Given the description of an element on the screen output the (x, y) to click on. 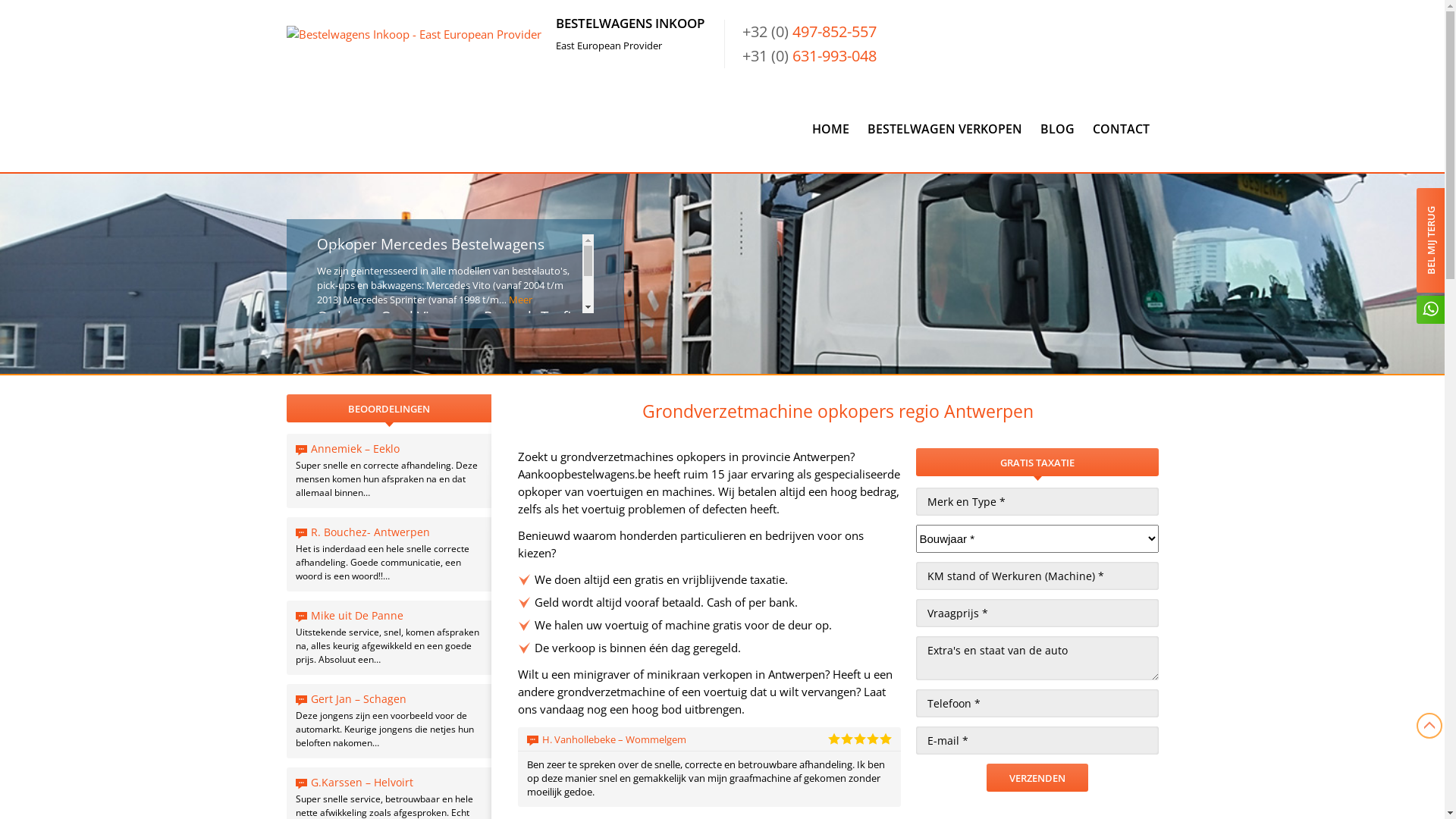
Opkoper Mercedes Bestelwagens Element type: text (430, 244)
BESTELWAGENS INKOOP
East European Provider Element type: text (495, 43)
BLOG Element type: text (1057, 128)
Opkoper Opel Vivaro en Renault Trafic Element type: text (446, 316)
CONTACT Element type: text (1119, 128)
Meer Element type: text (472, 372)
BESTELWAGEN VERKOPEN Element type: text (944, 128)
Bestelwagens Inkoop - East European Provider Element type: hover (413, 34)
+32 (0) 497-852-557 Element type: text (808, 31)
HOME Element type: text (829, 128)
Meer Element type: text (519, 299)
WhatsApp Element type: hover (1430, 311)
+31 (0) 631-993-048 Element type: text (808, 55)
Verzenden Element type: text (1036, 777)
